Given the description of an element on the screen output the (x, y) to click on. 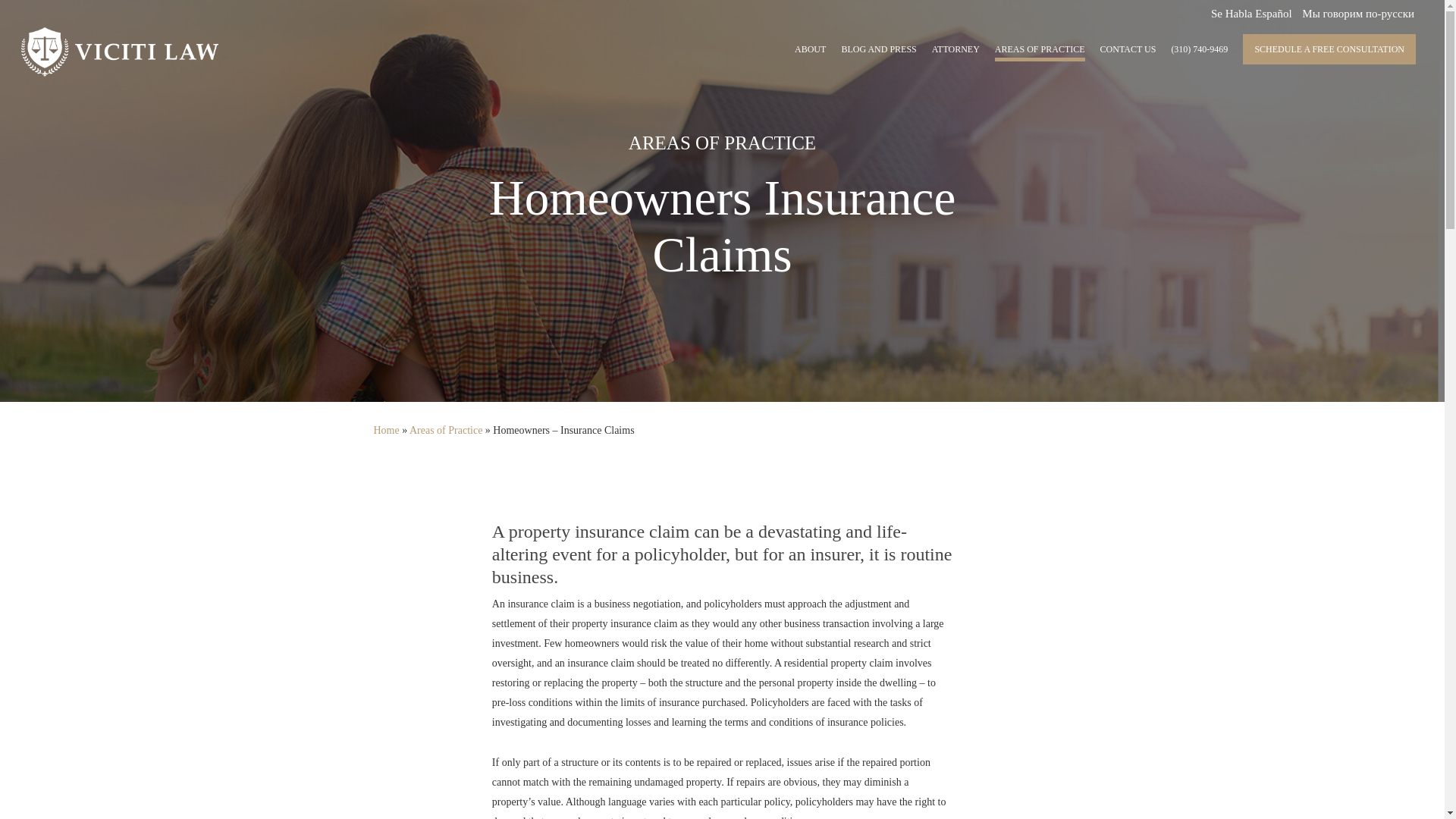
SCHEDULE A FREE CONSULTATION (1329, 49)
AREAS OF PRACTICE (1039, 55)
CONTACT US (1128, 55)
BLOG AND PRESS (878, 55)
